Given the description of an element on the screen output the (x, y) to click on. 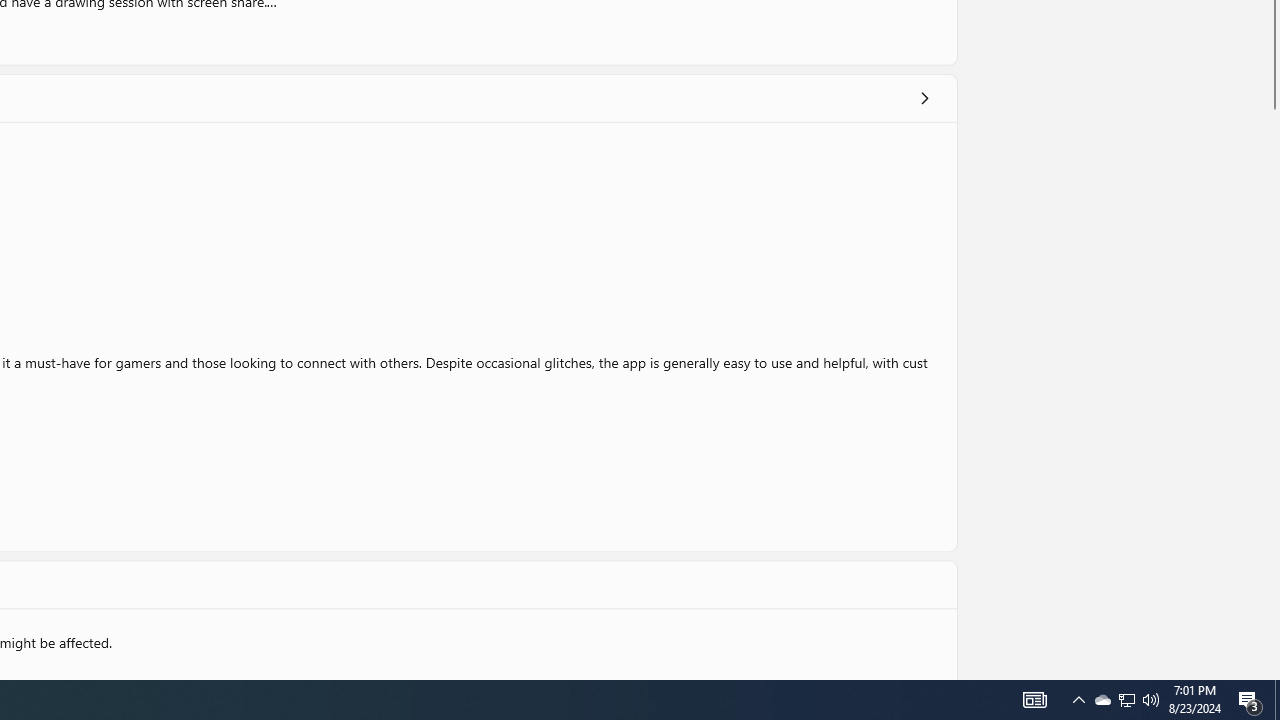
Show all ratings and reviews (924, 97)
